Given the description of an element on the screen output the (x, y) to click on. 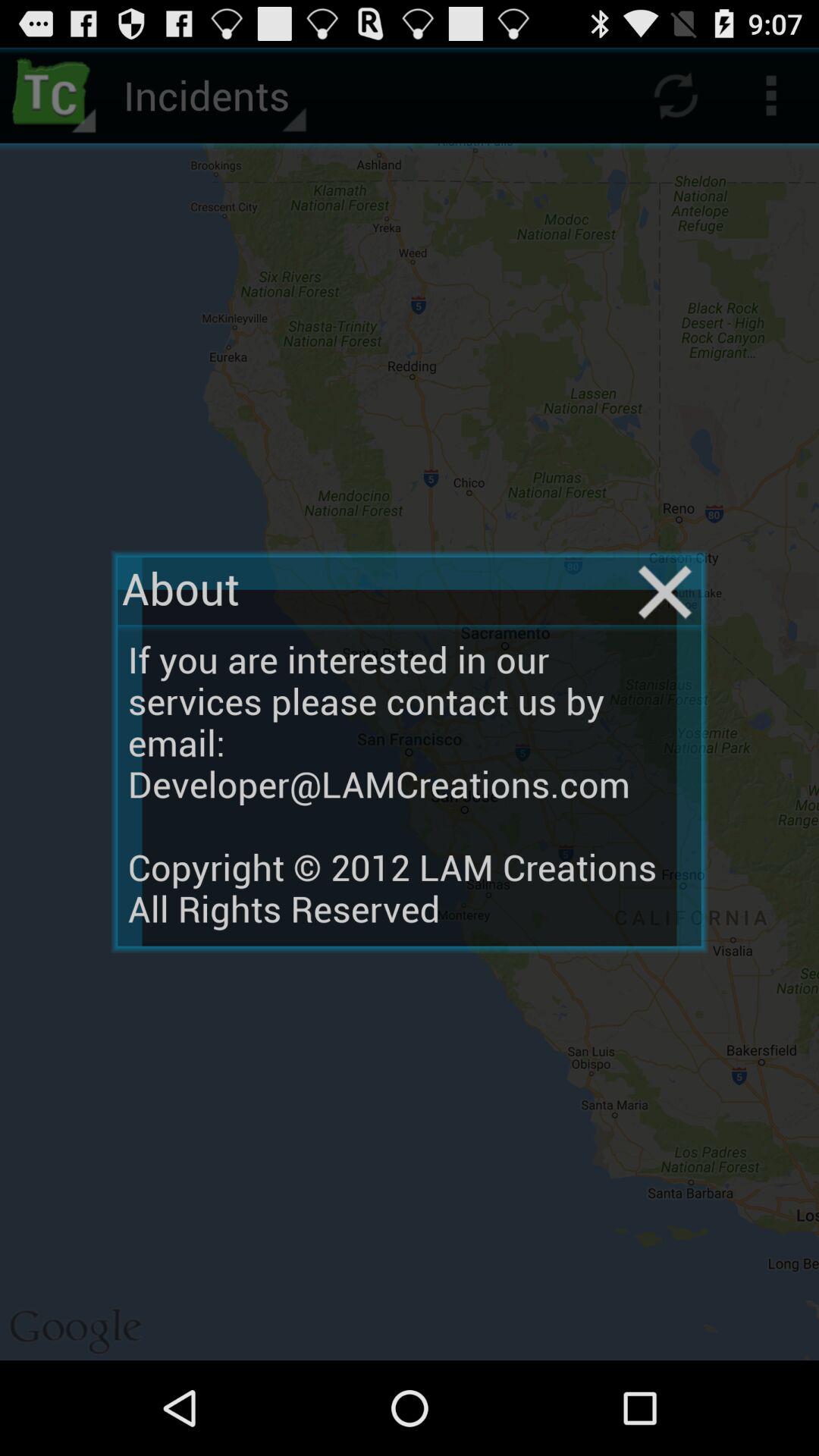
launch the item on the right (664, 592)
